Given the description of an element on the screen output the (x, y) to click on. 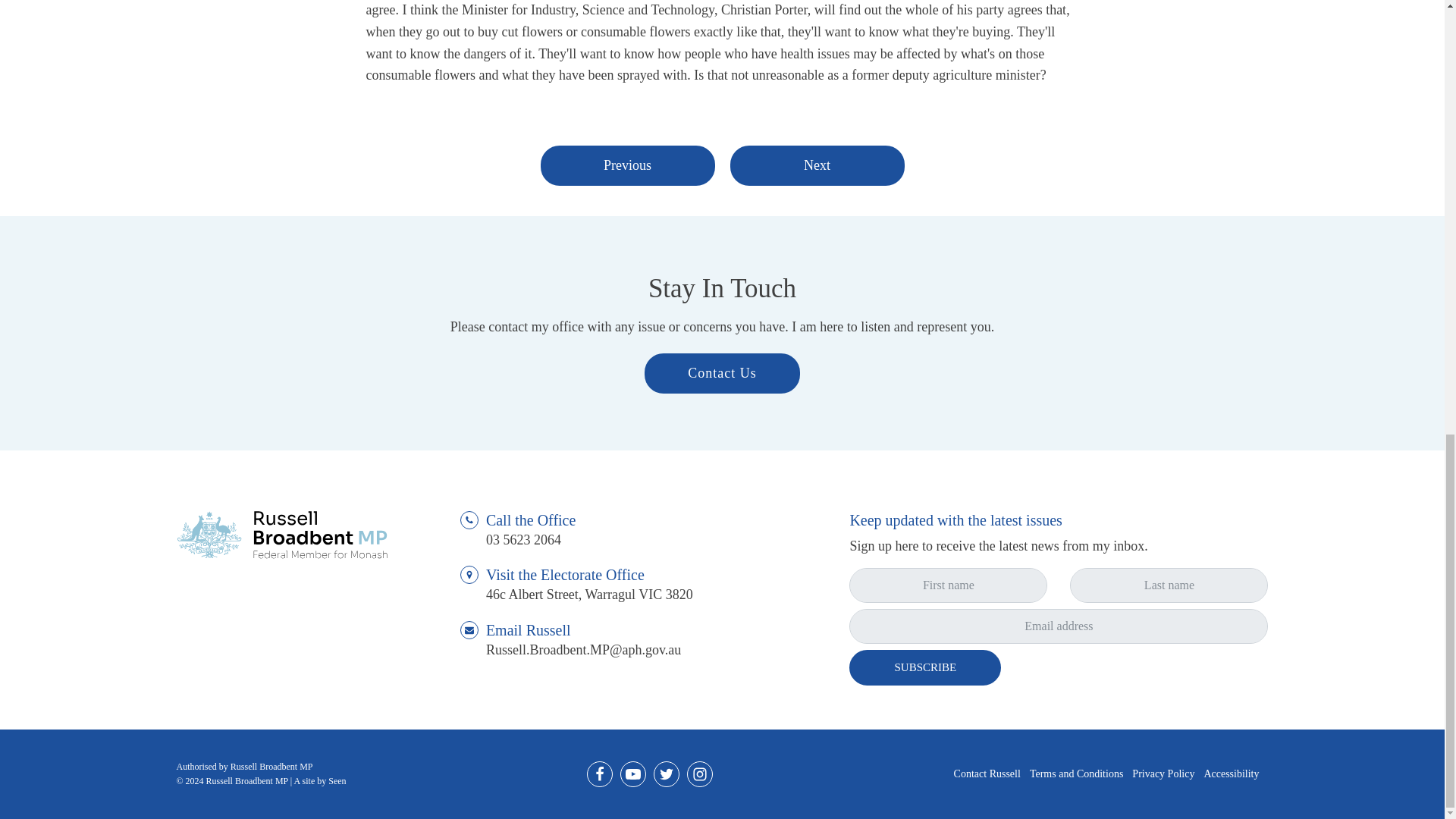
Terms and Conditions (1075, 773)
Contact Us (722, 372)
Previous (627, 165)
Seen (337, 780)
03 5623 2064 (523, 540)
SUBSCRIBE (924, 667)
Contact Russell (986, 773)
Accessibility (1231, 773)
Next (816, 165)
Privacy Policy (1162, 773)
